Given the description of an element on the screen output the (x, y) to click on. 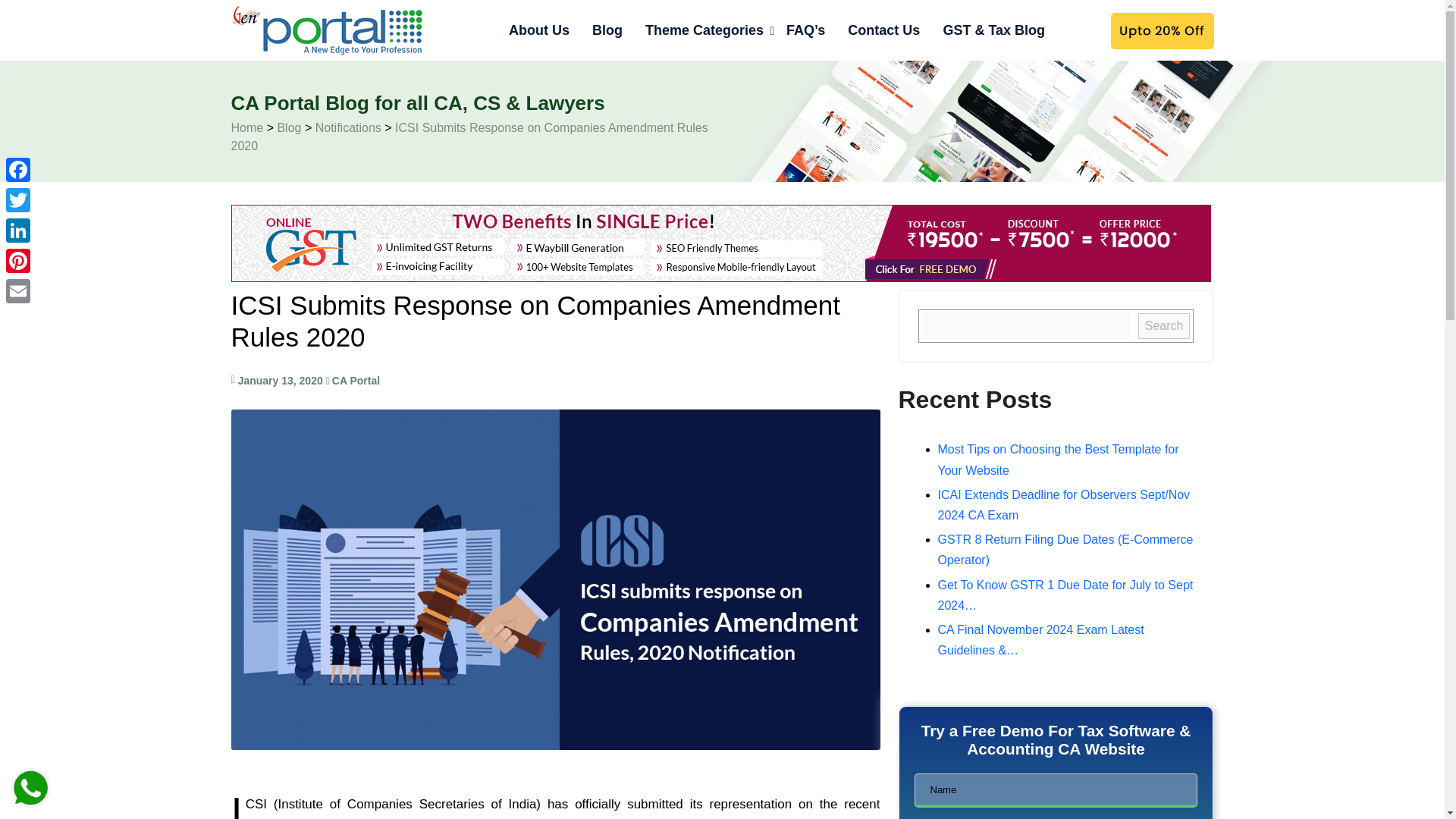
LinkedIn (17, 230)
January 13, 2020 (280, 380)
Go to the Notifications category archives. (348, 127)
Search (1164, 325)
Most Tips on Choosing the Best Template for Your Website (1057, 459)
Contact Us (883, 30)
Go to CA Portal Blog. (246, 127)
Quote Now (1160, 30)
Home (246, 127)
Notifications (348, 127)
